Given the description of an element on the screen output the (x, y) to click on. 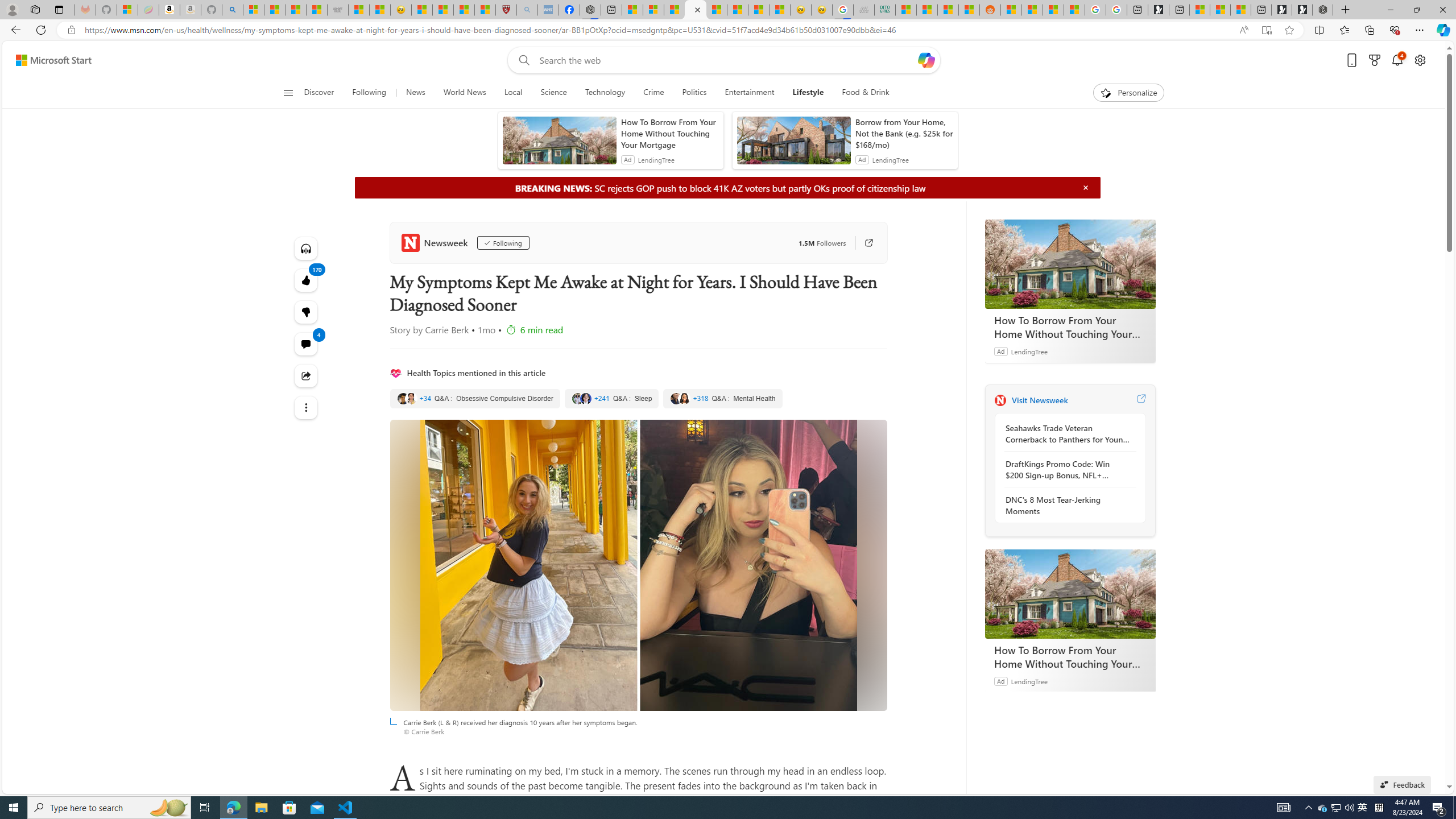
Visit Newsweek website (1140, 399)
Fitness - MSN (737, 9)
Hide (1084, 187)
